Given the description of an element on the screen output the (x, y) to click on. 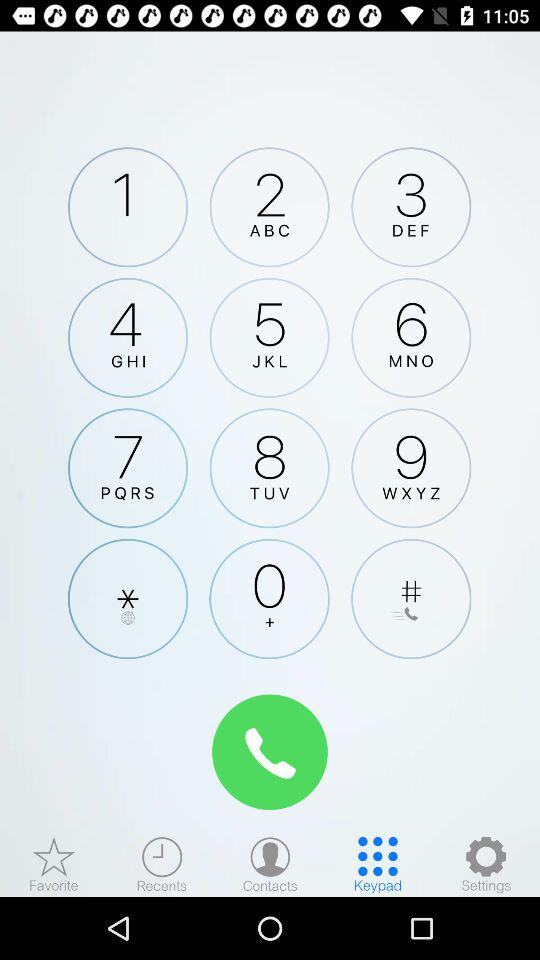
prints number 3 (411, 207)
